Given the description of an element on the screen output the (x, y) to click on. 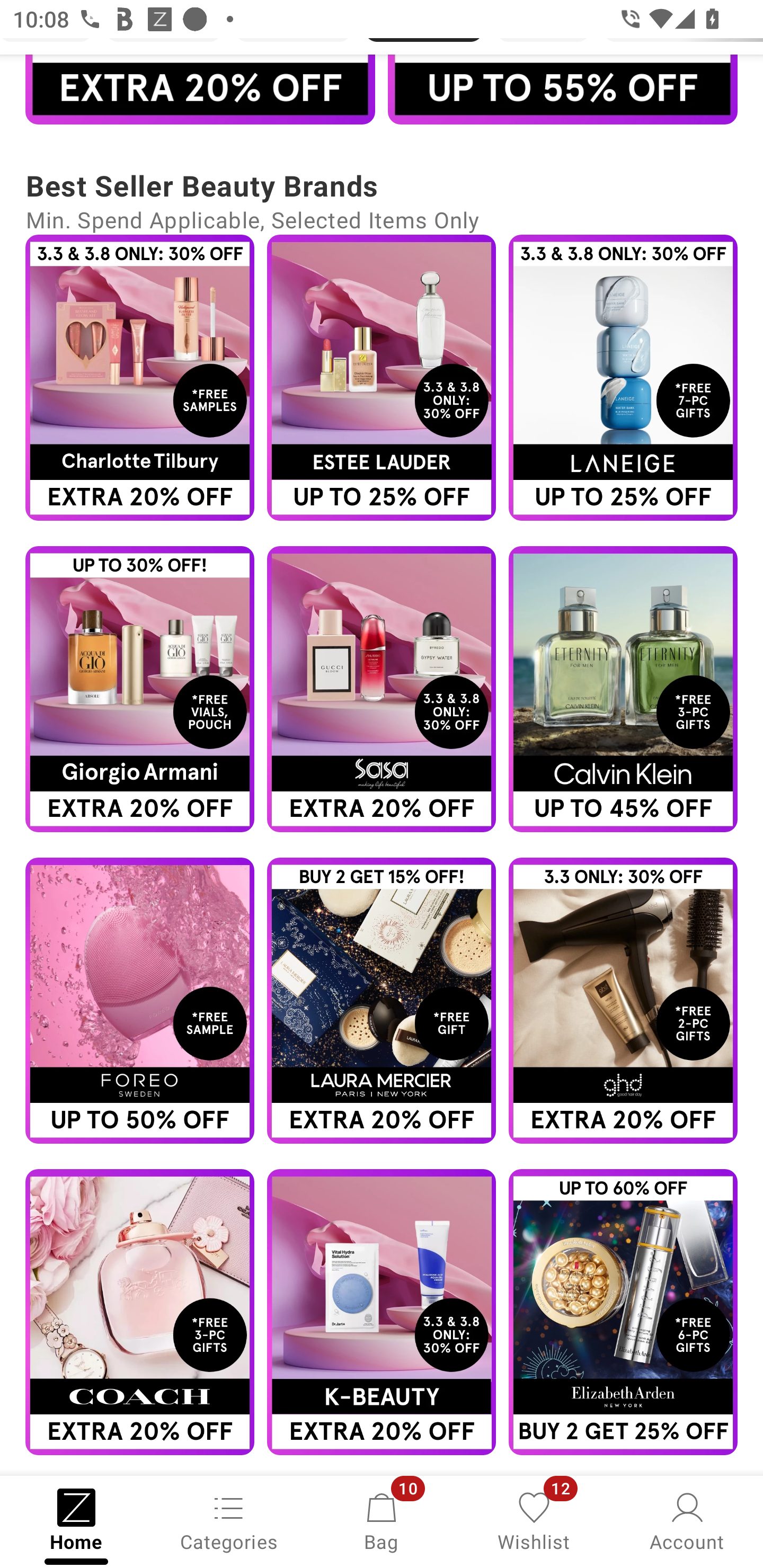
Campaign banner (200, 88)
Campaign banner (562, 88)
Campaign banner (139, 377)
Campaign banner (381, 377)
Campaign banner (622, 377)
Campaign banner (139, 688)
Campaign banner (381, 688)
Campaign banner (622, 688)
Campaign banner (139, 1000)
Campaign banner (381, 1000)
Campaign banner (622, 1000)
Campaign banner (139, 1312)
Campaign banner (381, 1312)
Campaign banner (622, 1312)
Categories (228, 1519)
Bag, 10 new notifications Bag (381, 1519)
Wishlist, 12 new notifications Wishlist (533, 1519)
Account (686, 1519)
